Given the description of an element on the screen output the (x, y) to click on. 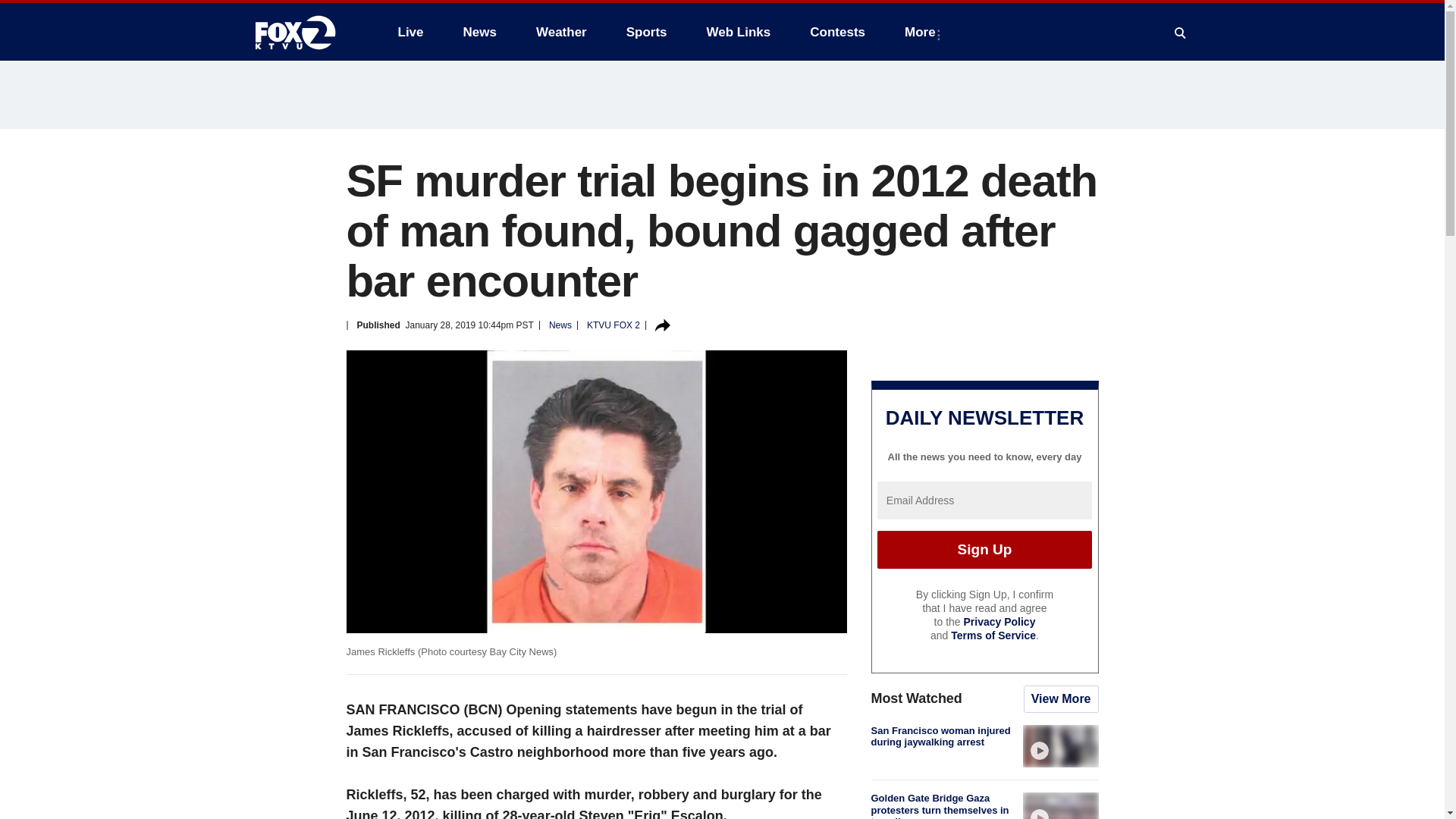
Contests (837, 32)
Web Links (738, 32)
Weather (561, 32)
More (922, 32)
Sign Up (984, 549)
Live (410, 32)
News (479, 32)
Sports (646, 32)
